Given the description of an element on the screen output the (x, y) to click on. 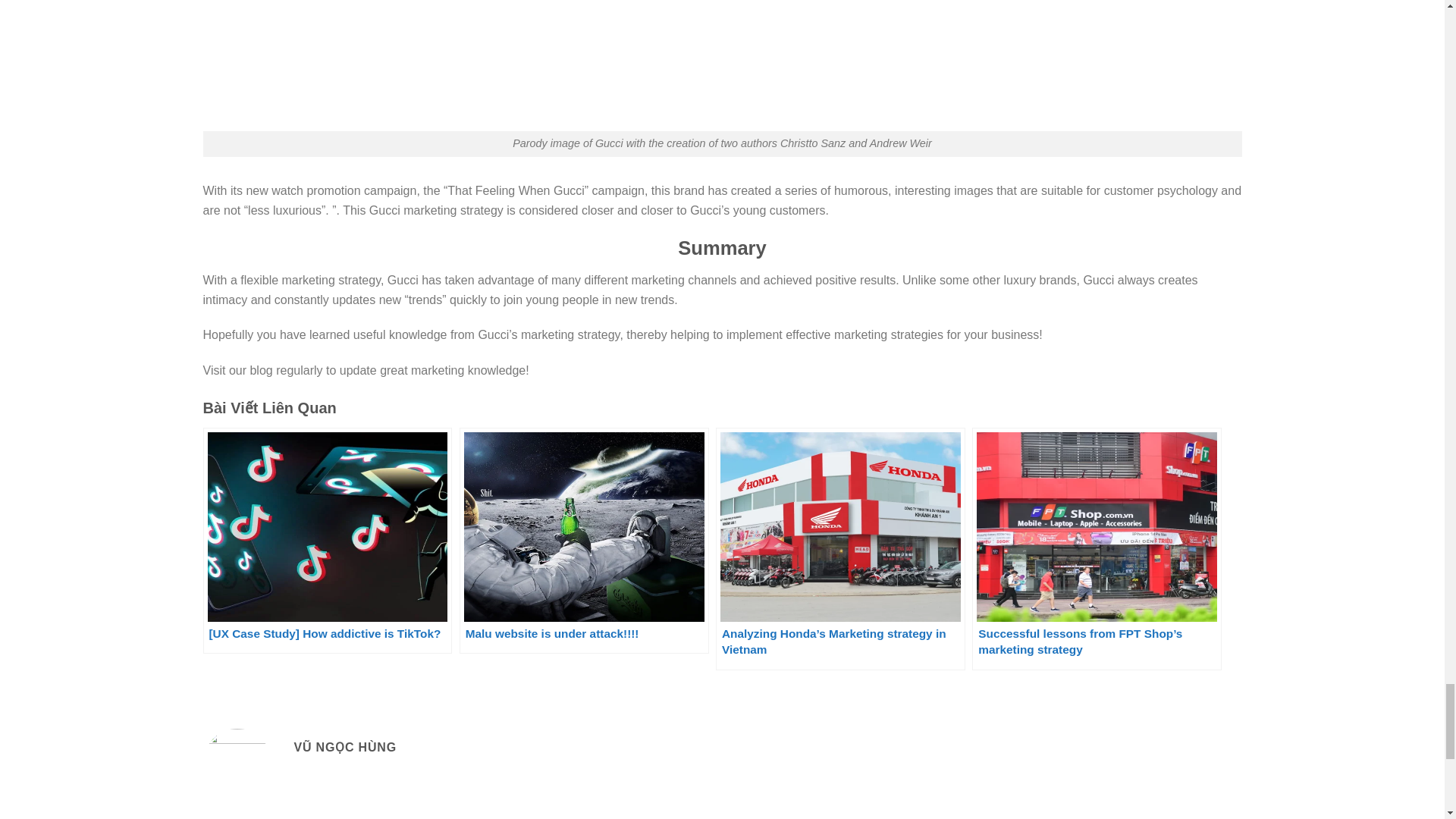
Malu website is under attack!!!! (584, 540)
